Given the description of an element on the screen output the (x, y) to click on. 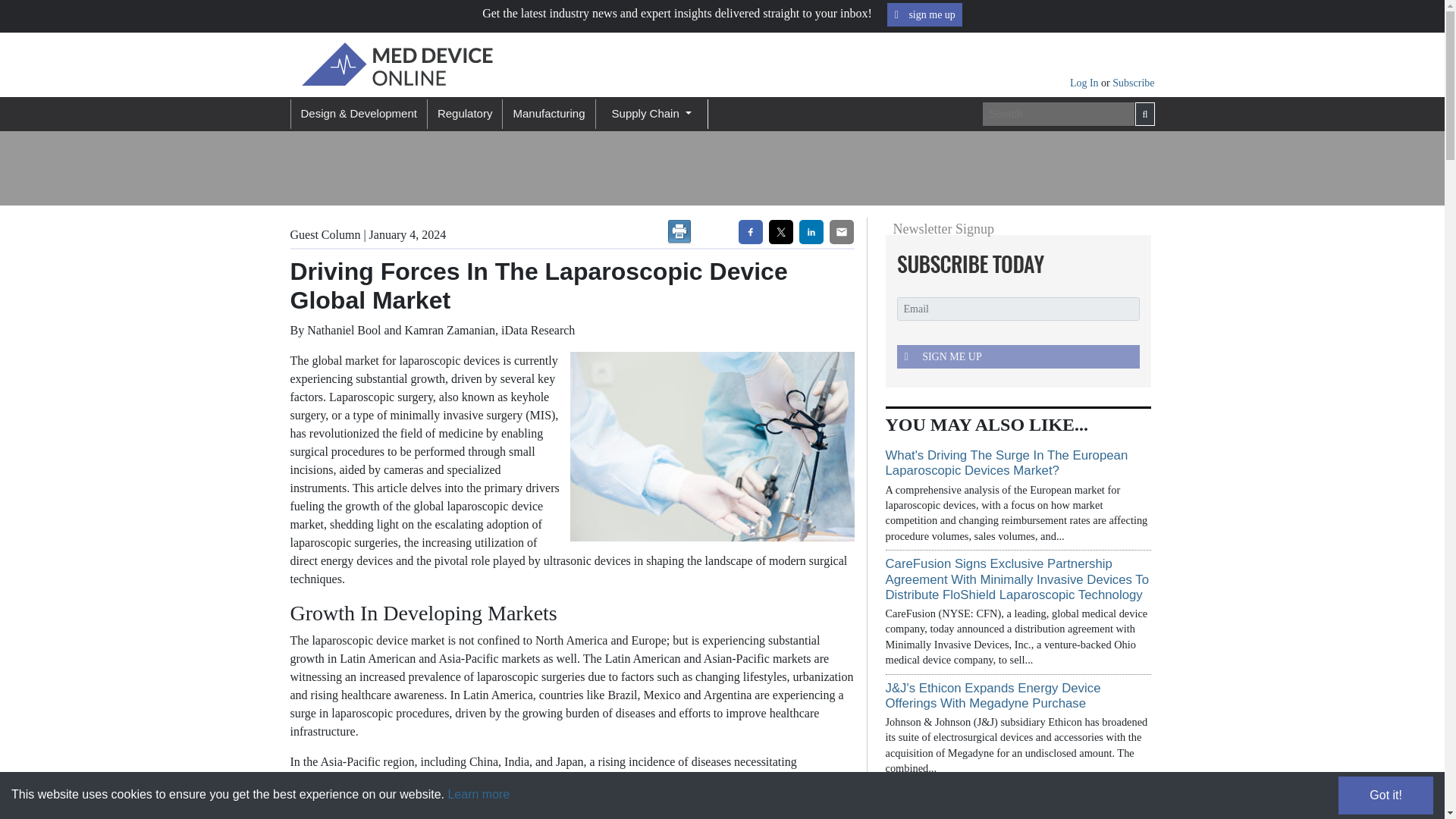
3rd party ad content (1008, 168)
Regulatory (464, 113)
Log In (1085, 82)
Subscribe (1133, 82)
Manufacturing (548, 113)
Print (679, 232)
Newsletter Signup (1013, 263)
SIGN ME UP (1017, 356)
laparoscopic surgery GettyImages-1302119512 (708, 446)
3rd party ad content (623, 168)
sign me up (924, 14)
Robotic Tech's Opportunities To Revolutionize Surgery (1013, 804)
Supply Chain (651, 113)
